Given the description of an element on the screen output the (x, y) to click on. 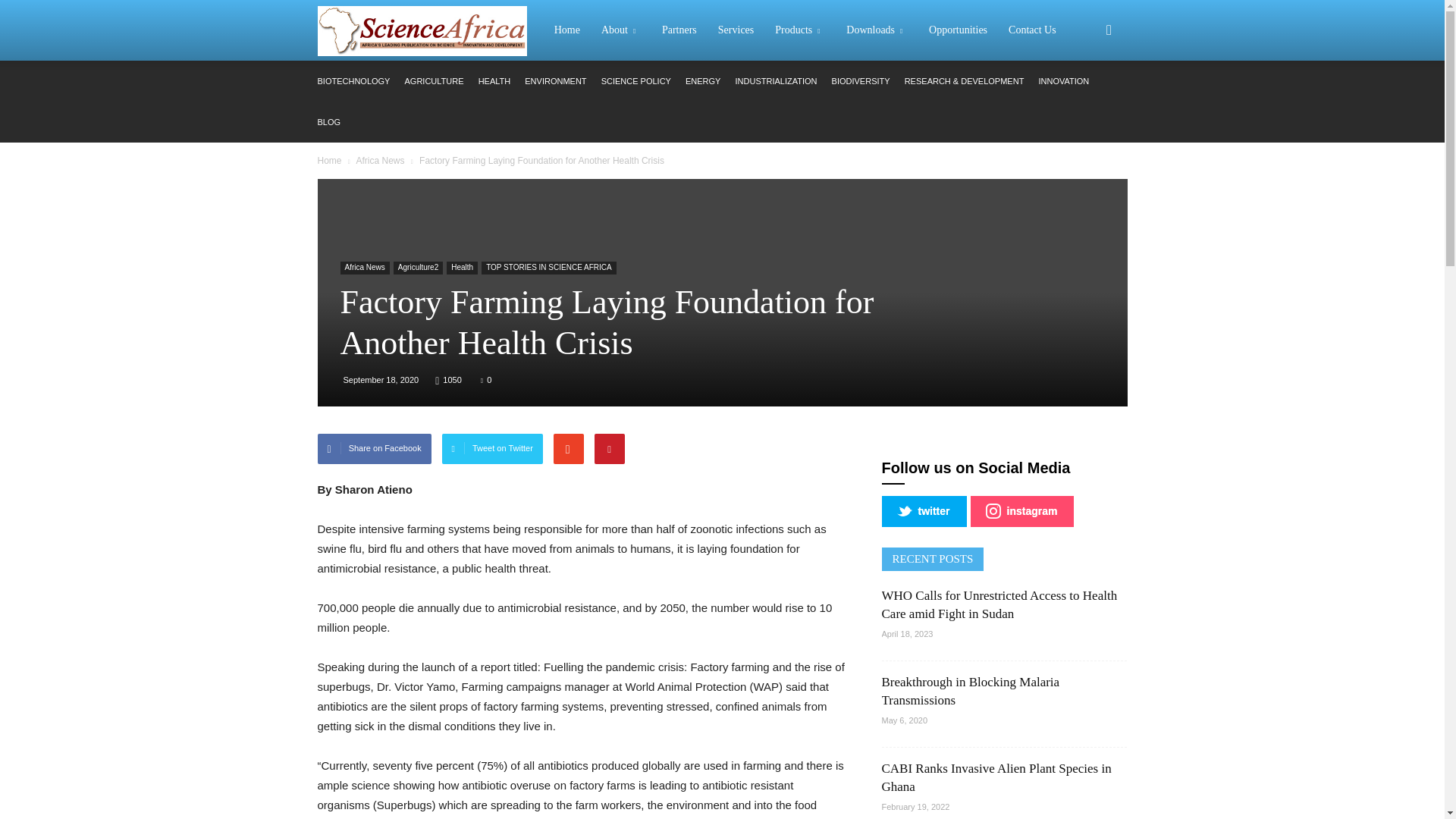
About (620, 30)
Breakthrough in Blocking Malaria Transmissions (969, 690)
Products (799, 30)
View all posts in Africa News (379, 160)
Science Africa (430, 30)
Services (735, 30)
Downloads (876, 30)
CABI Ranks Invasive Alien Plant Species in Ghana (995, 777)
Partners (678, 30)
